Given the description of an element on the screen output the (x, y) to click on. 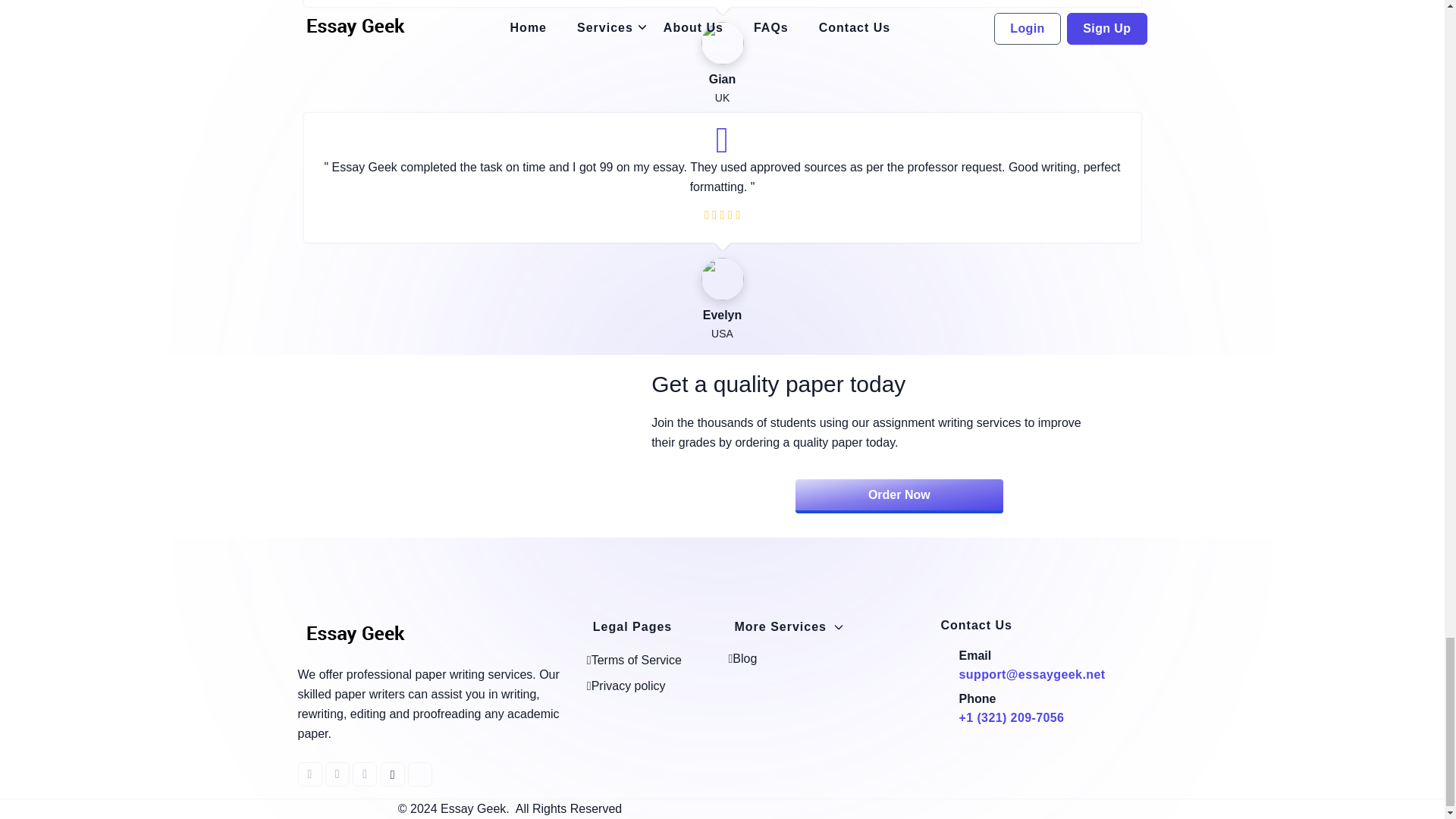
Terms of Service (633, 659)
More Services (789, 626)
Order Now (898, 496)
Privacy policy (625, 685)
